Given the description of an element on the screen output the (x, y) to click on. 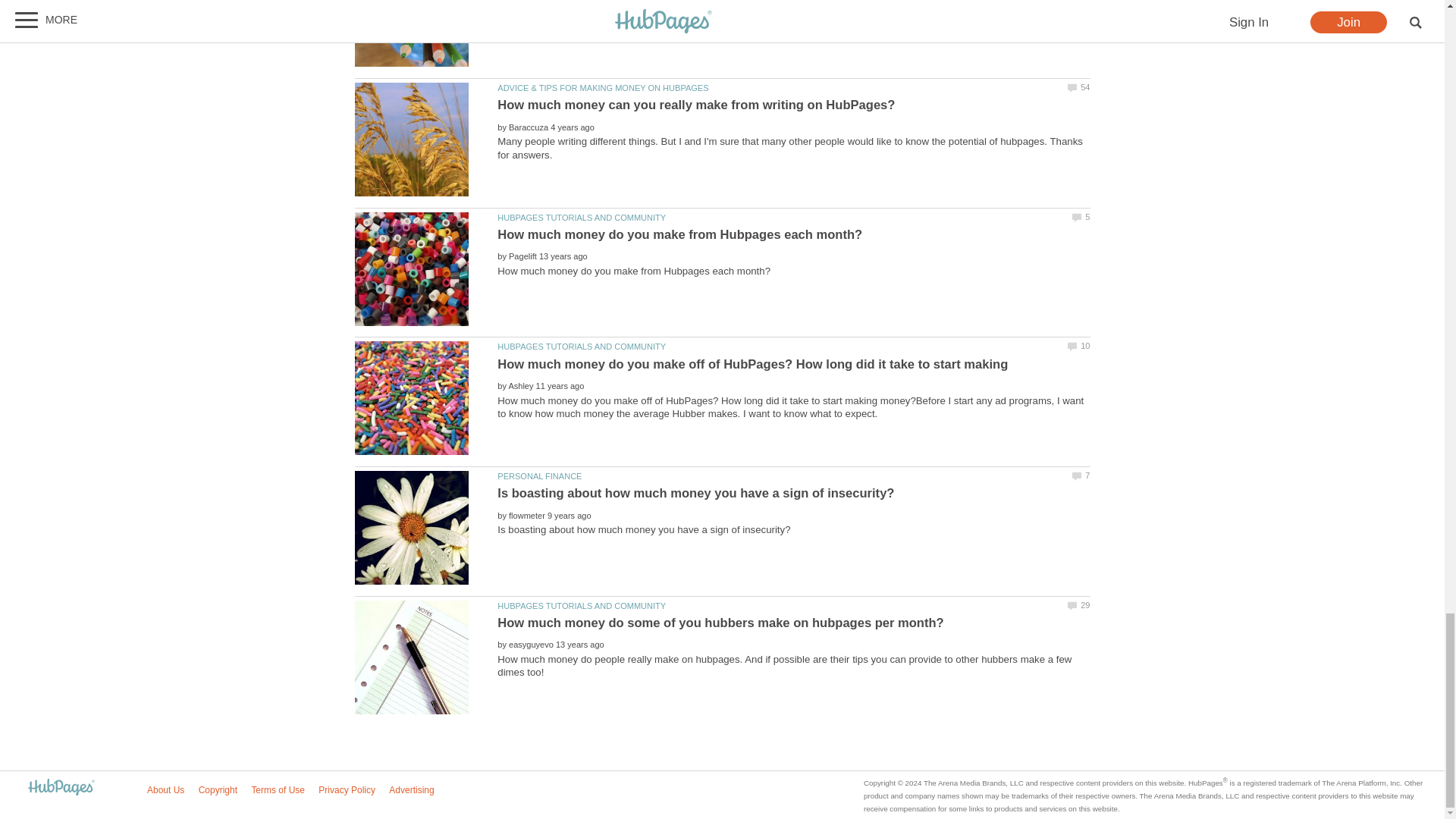
To the HubPages home page (60, 787)
